Given the description of an element on the screen output the (x, y) to click on. 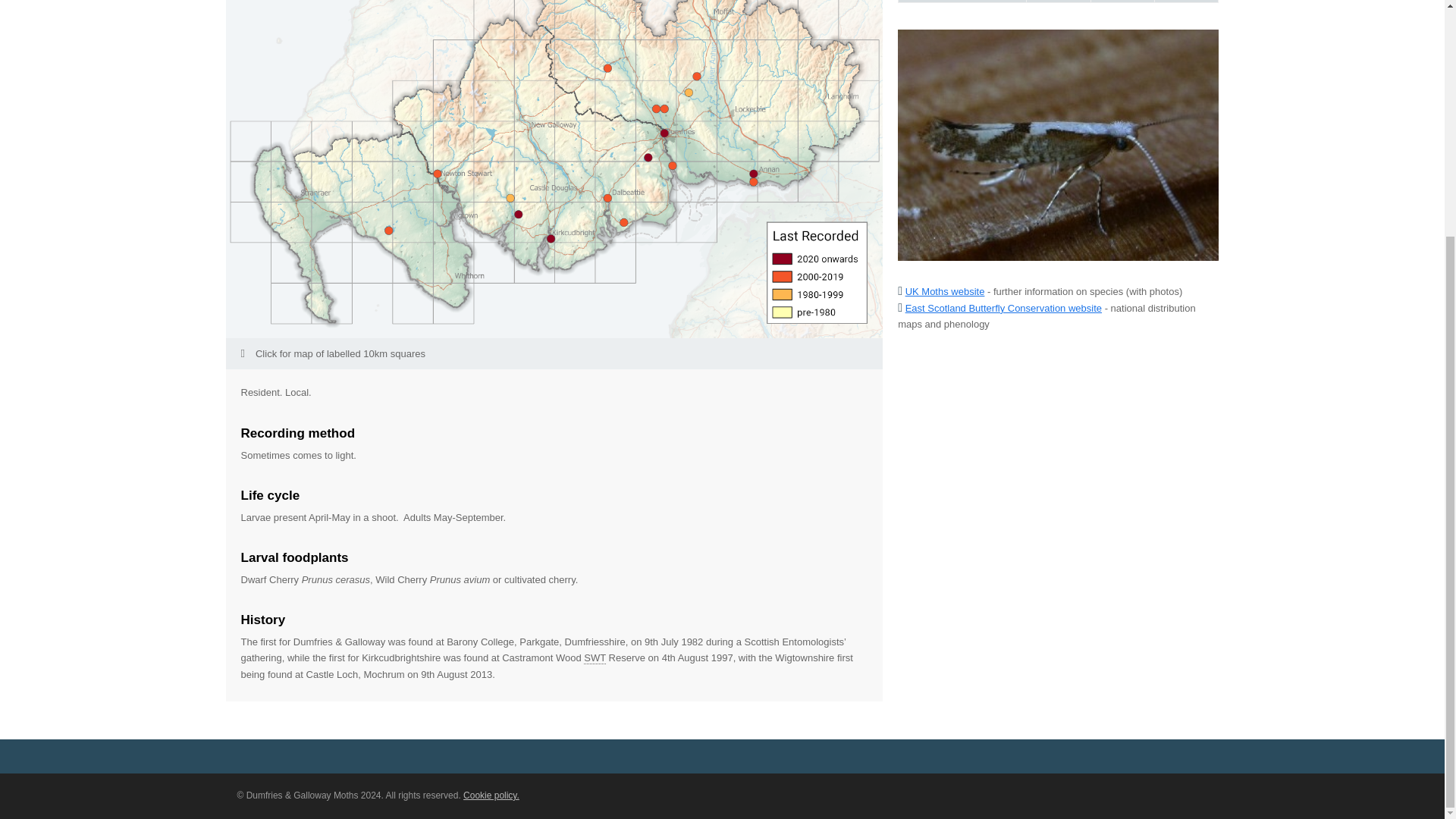
East Scotland Butterfly Conservation website (1003, 307)
Click for map of labelled 10km squares (554, 352)
UK Moths website (945, 291)
Cookie policy. (491, 795)
